Given the description of an element on the screen output the (x, y) to click on. 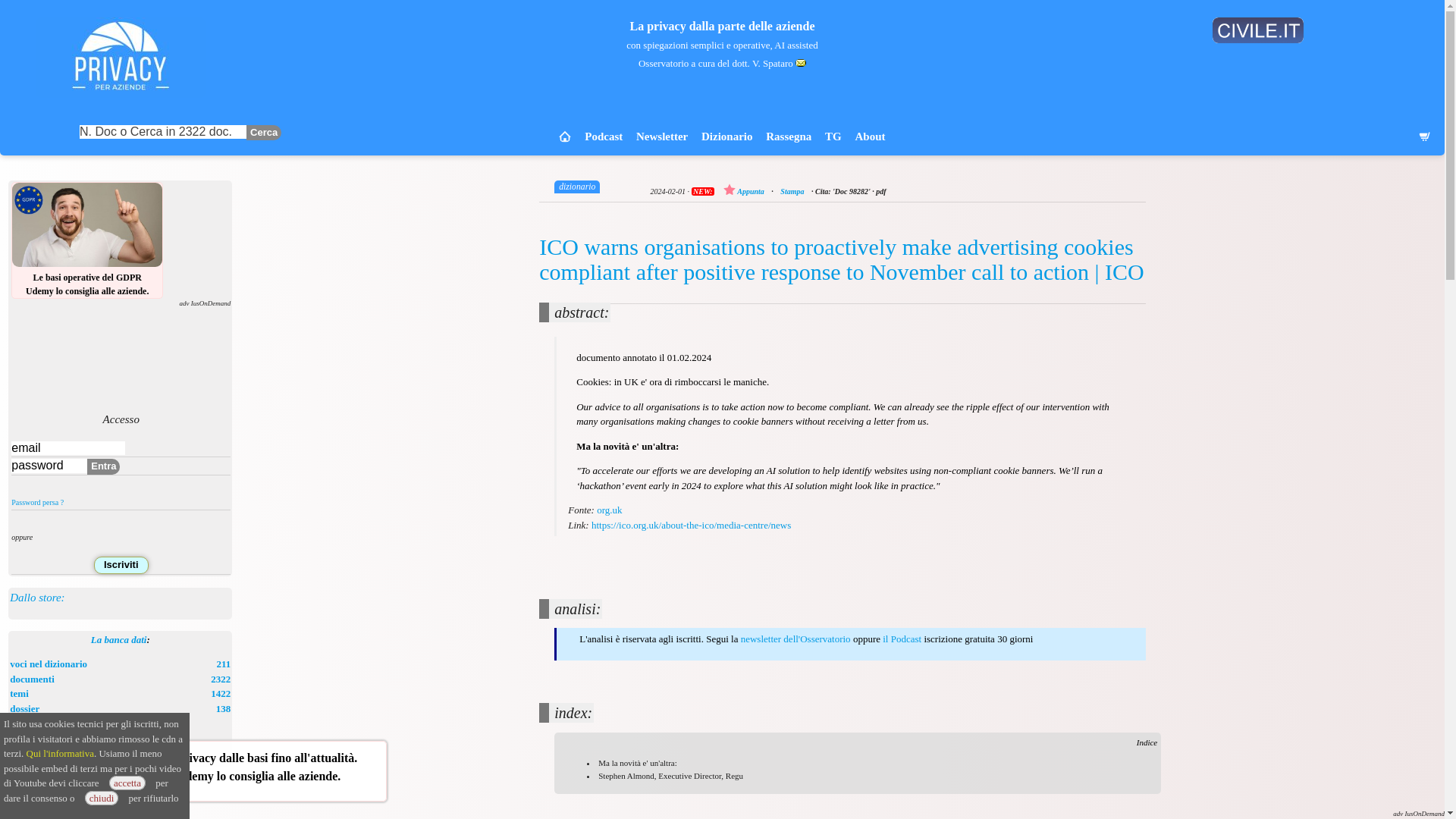
Podcast (603, 136)
dott. V. Spataro  (769, 62)
il Podcast (901, 638)
Qui l'informativa (60, 753)
dizionario (48, 663)
Dizionario (576, 185)
org.uk (727, 136)
Entra (19, 693)
